Given the description of an element on the screen output the (x, y) to click on. 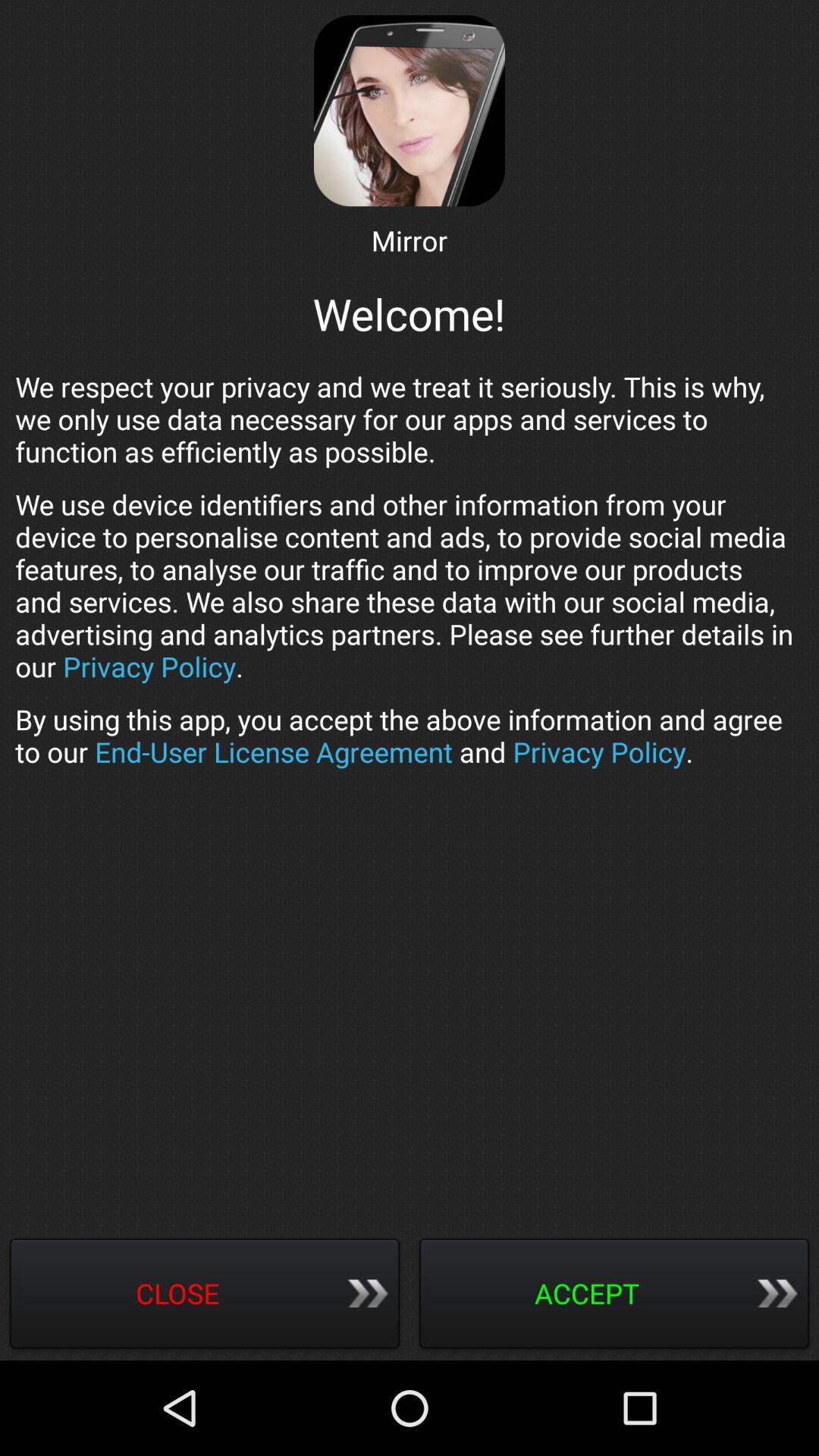
scroll to the by using this (409, 735)
